Given the description of an element on the screen output the (x, y) to click on. 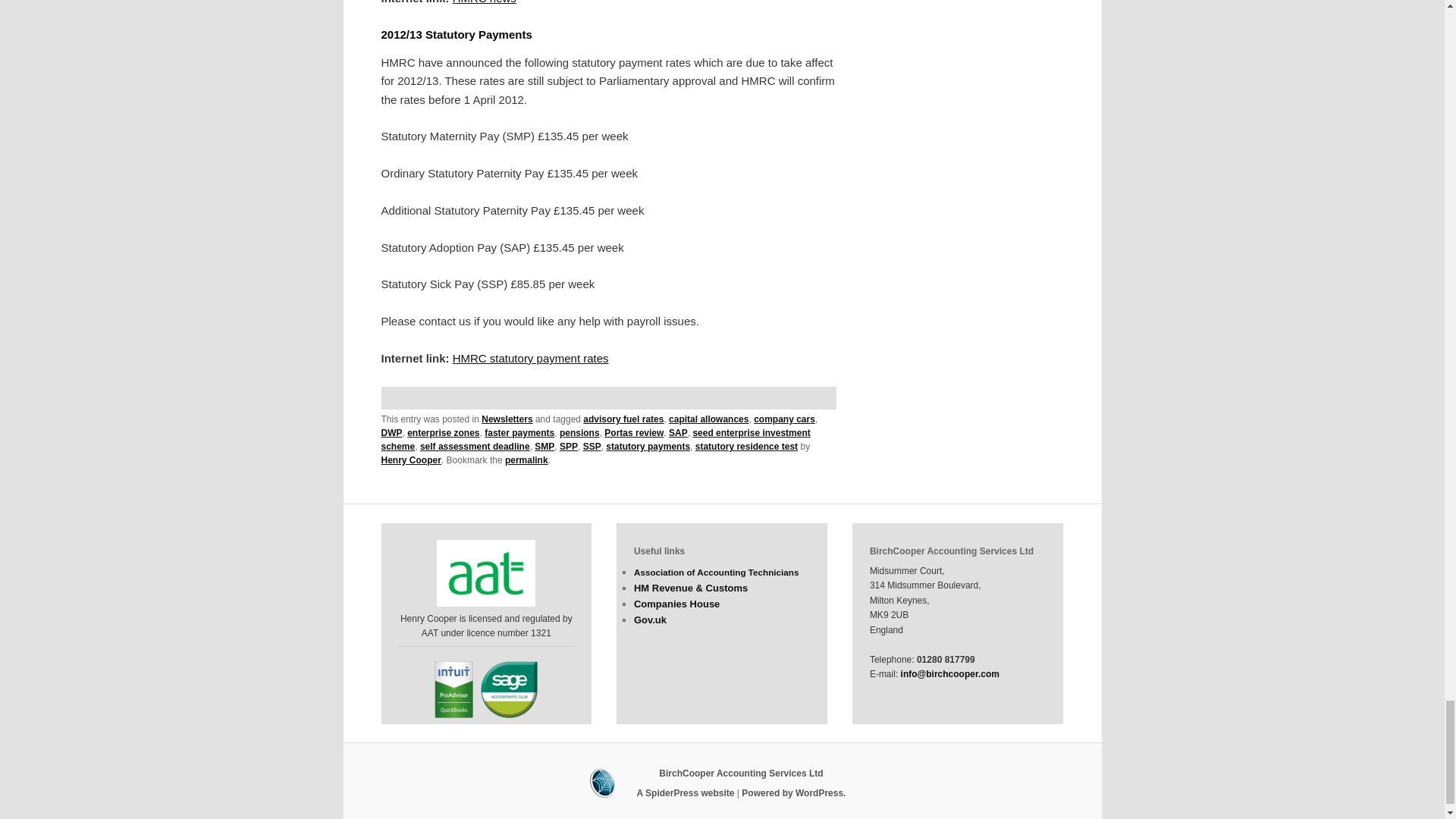
Sage Accountants Club member (508, 689)
Association of Accounting Technicians - member (485, 572)
